Given the description of an element on the screen output the (x, y) to click on. 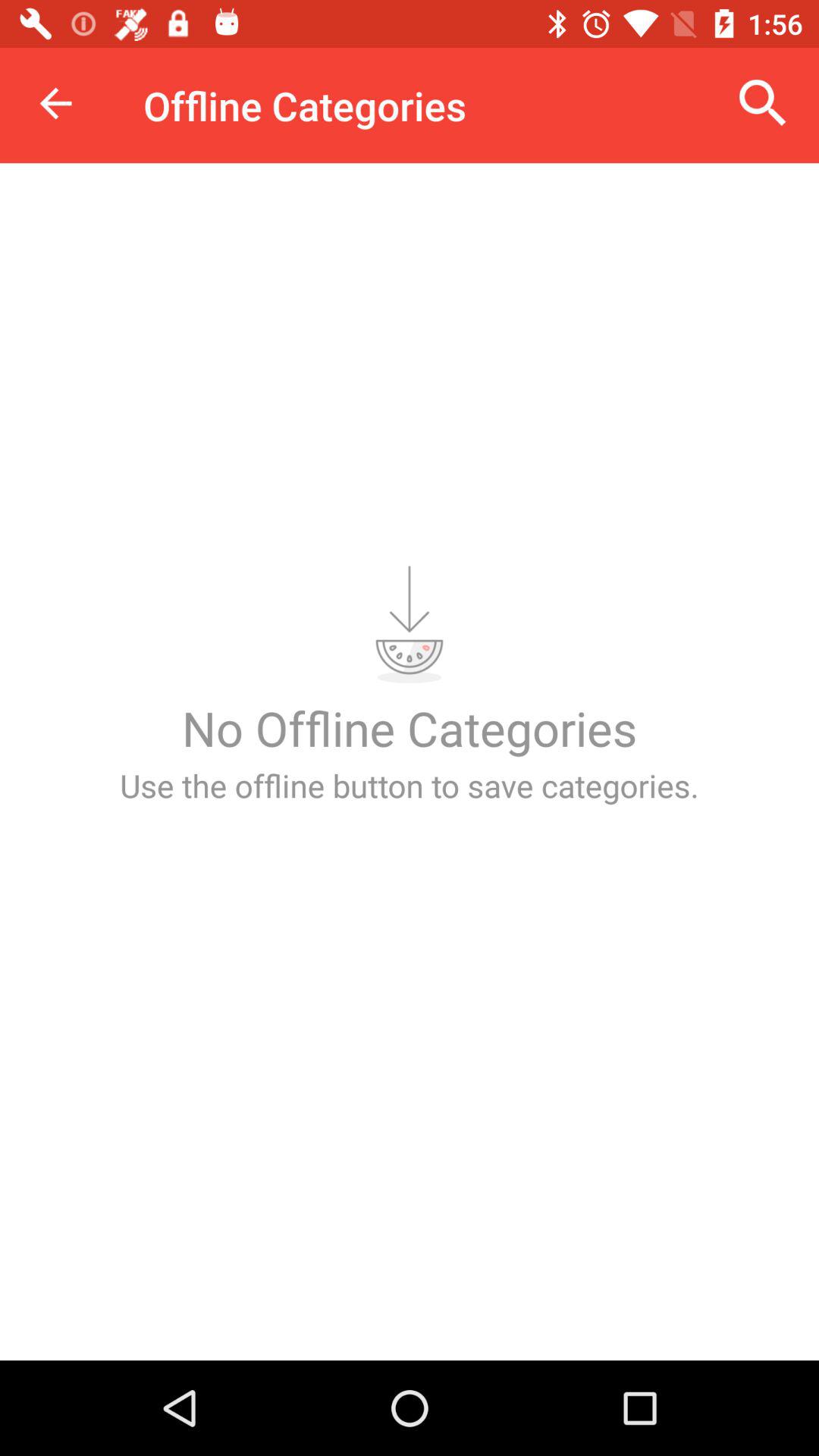
choose the item next to the offline categories (55, 103)
